Given the description of an element on the screen output the (x, y) to click on. 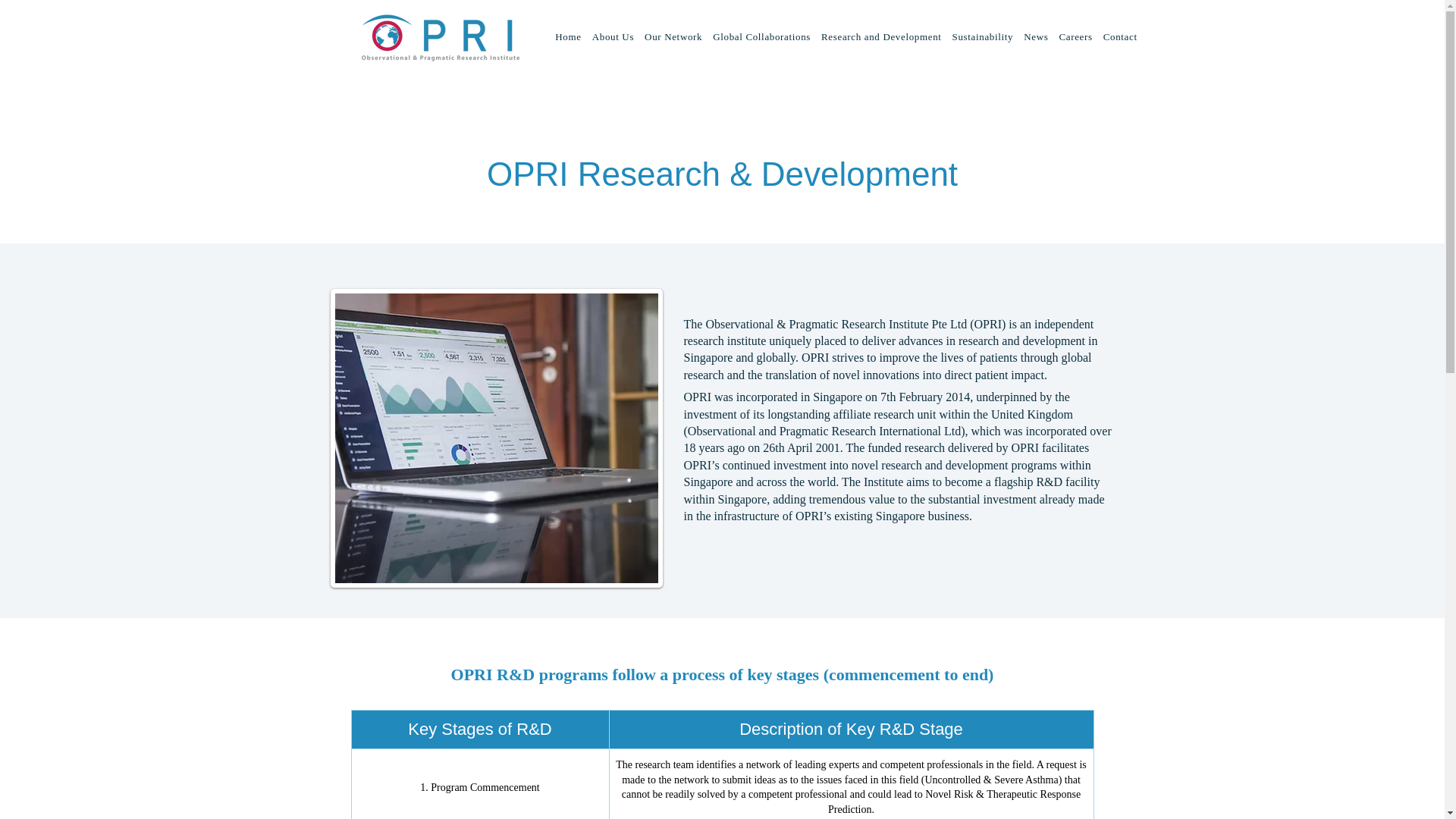
Home (568, 36)
About Us (612, 36)
Sustainability (983, 36)
News (1034, 36)
Contact (1119, 36)
Careers (1074, 36)
Laboratory (496, 438)
Research and Development (881, 36)
